Given the description of an element on the screen output the (x, y) to click on. 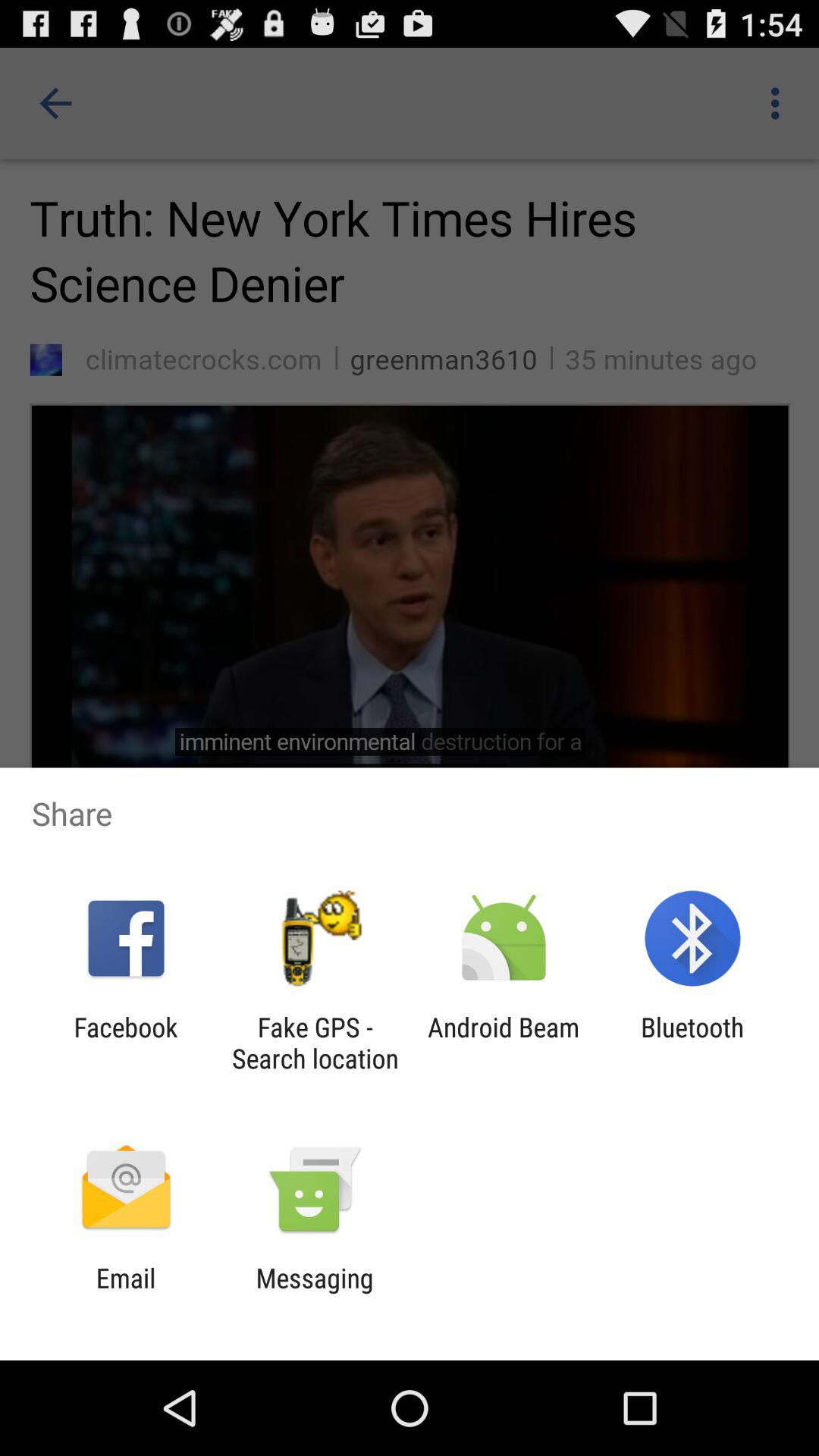
click the icon next to facebook icon (314, 1042)
